Given the description of an element on the screen output the (x, y) to click on. 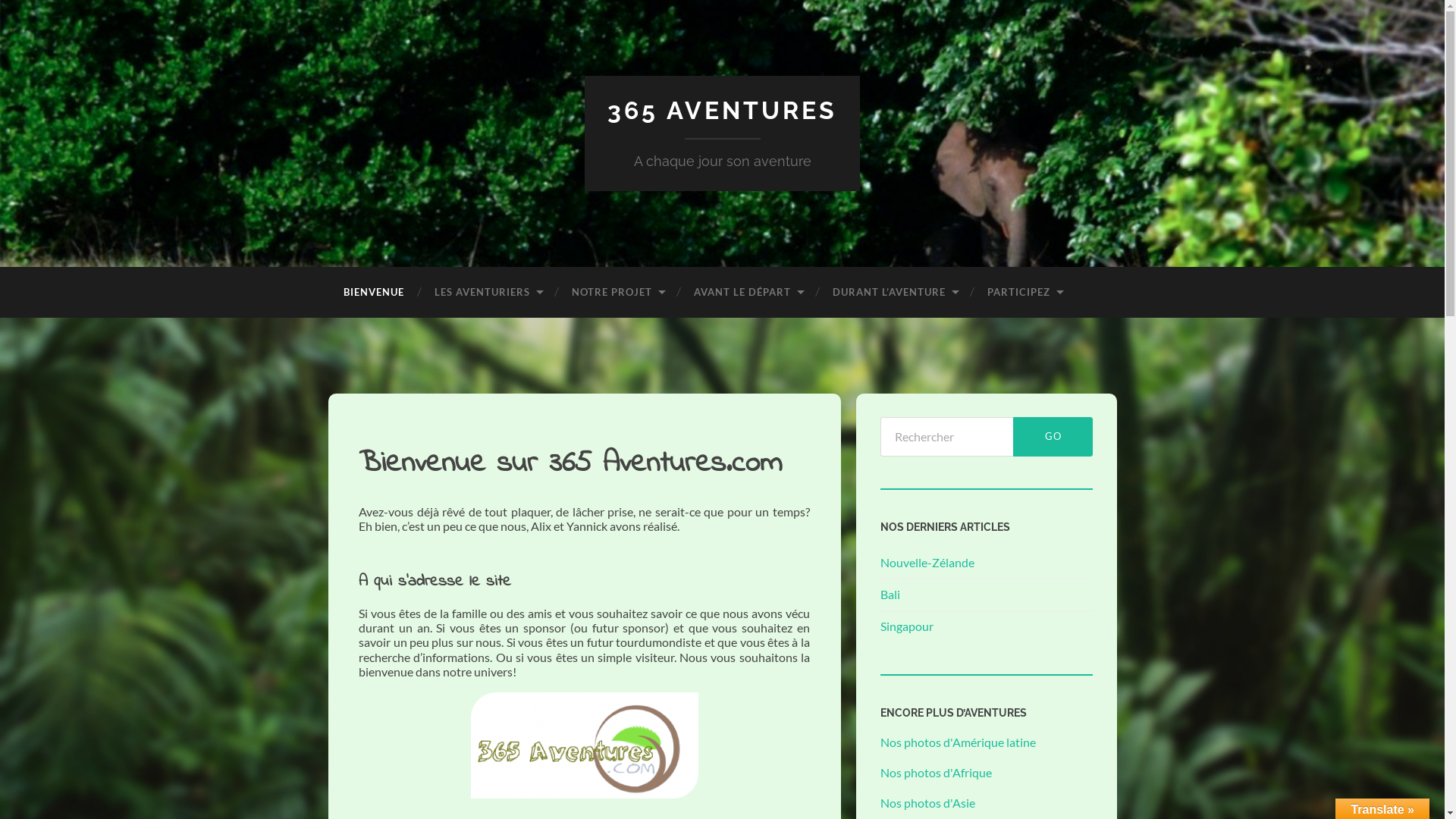
365 AVENTURES Element type: text (722, 110)
Bali Element type: text (889, 593)
BIENVENUE Element type: text (372, 291)
Singapour Element type: text (905, 625)
PARTICIPEZ Element type: text (1024, 291)
NOTRE PROJET Element type: text (617, 291)
Nos photos d'Afrique Element type: text (935, 772)
Nos photos d'Asie Element type: text (926, 802)
Go Element type: text (1052, 436)
LES AVENTURIERS Element type: text (486, 291)
